Given the description of an element on the screen output the (x, y) to click on. 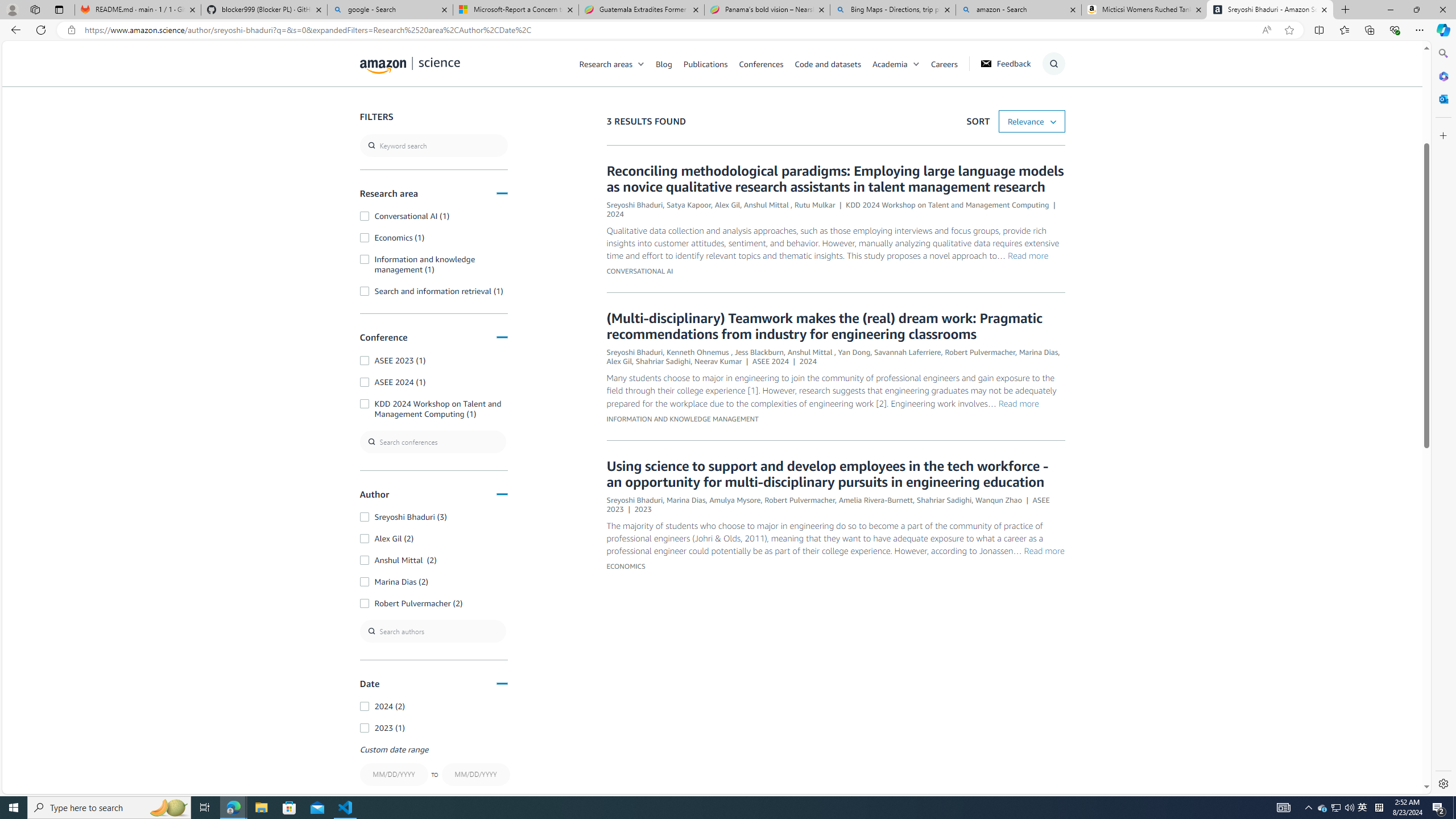
Careers (949, 63)
Research areas (617, 63)
Code and datasets (833, 63)
Blog (669, 63)
Conferences (766, 63)
